Given the description of an element on the screen output the (x, y) to click on. 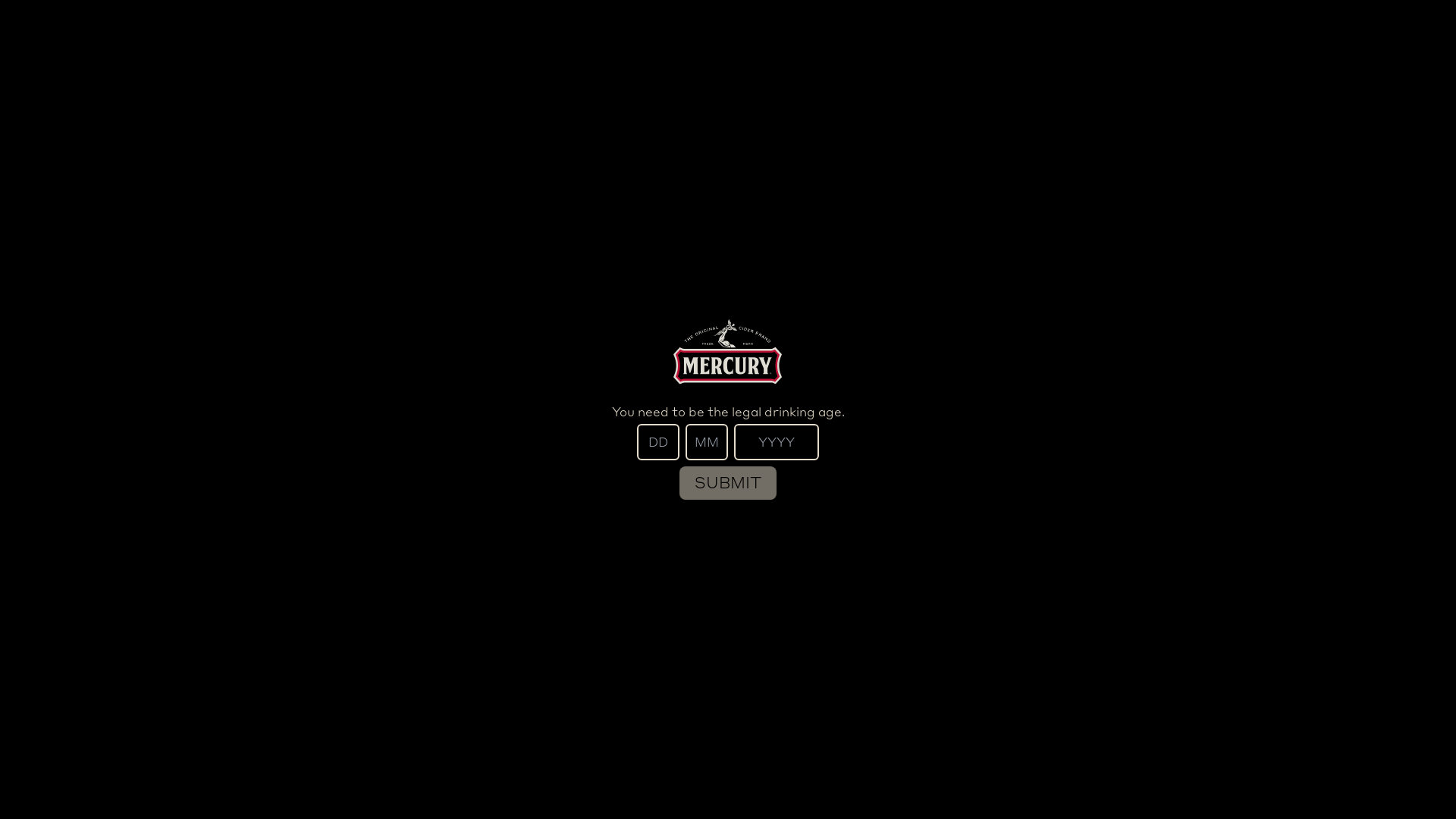
CRUSHED PASSIONFRUIT Element type: text (318, 587)
INSTAGRAM Element type: text (835, 34)
submit Element type: text (727, 482)
FACEBOOK Element type: text (940, 34)
ORIGINAL Element type: text (591, 587)
CRUSHED BLACKCURRANT Element type: text (1137, 587)
PRODUCTS Element type: text (515, 34)
CRUSHED RASPBERRY Element type: text (864, 587)
HISTORY Element type: text (613, 34)
